Given the description of an element on the screen output the (x, y) to click on. 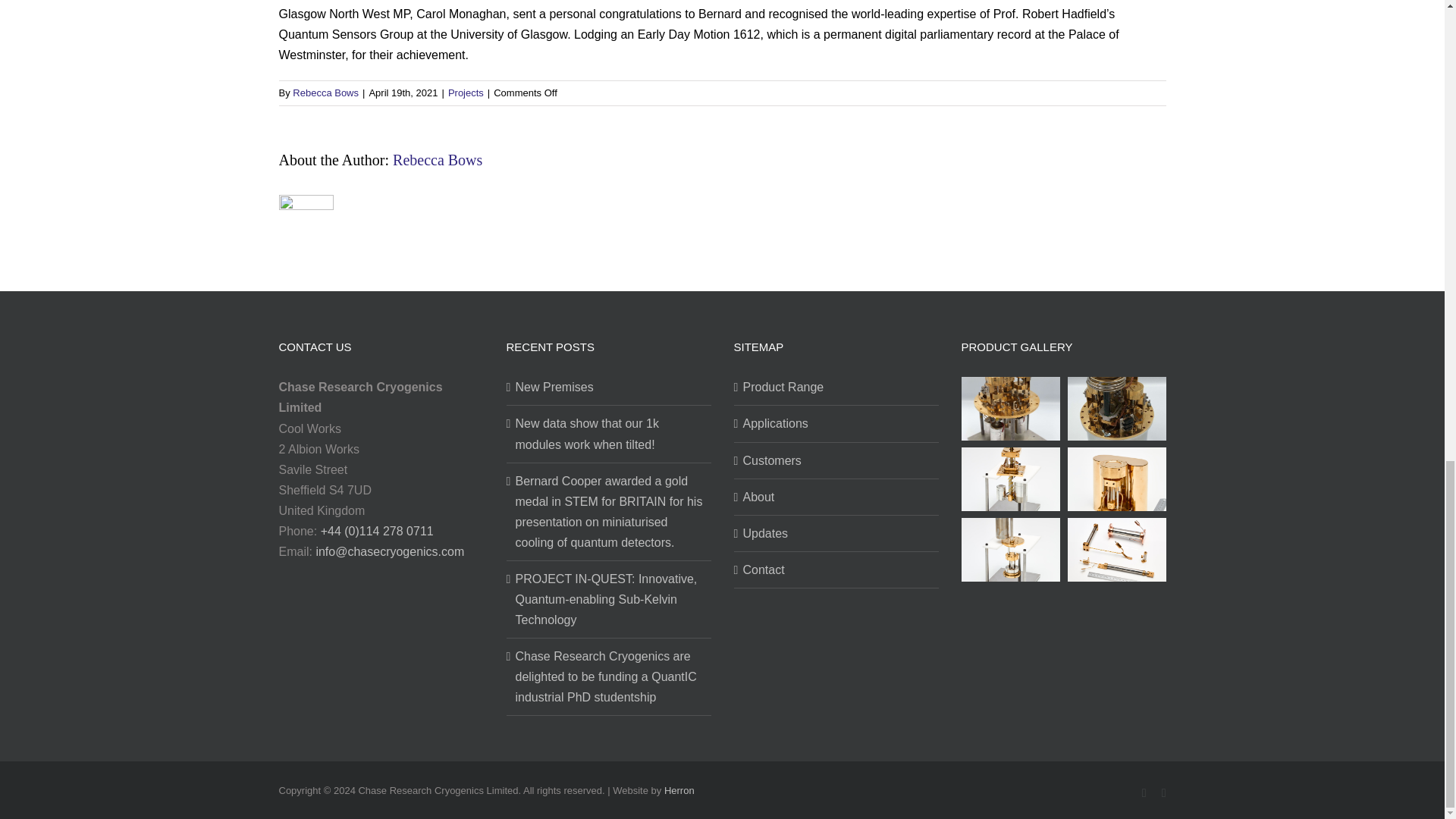
Custom GL7 (1009, 478)
CCminus (1116, 407)
Custom GL4 (1009, 548)
CC7 (1009, 407)
Folded GL7 (1116, 478)
Custom Switches (1116, 548)
Posts by Rebecca Bows (325, 92)
Posts by Rebecca Bows (437, 159)
